Given the description of an element on the screen output the (x, y) to click on. 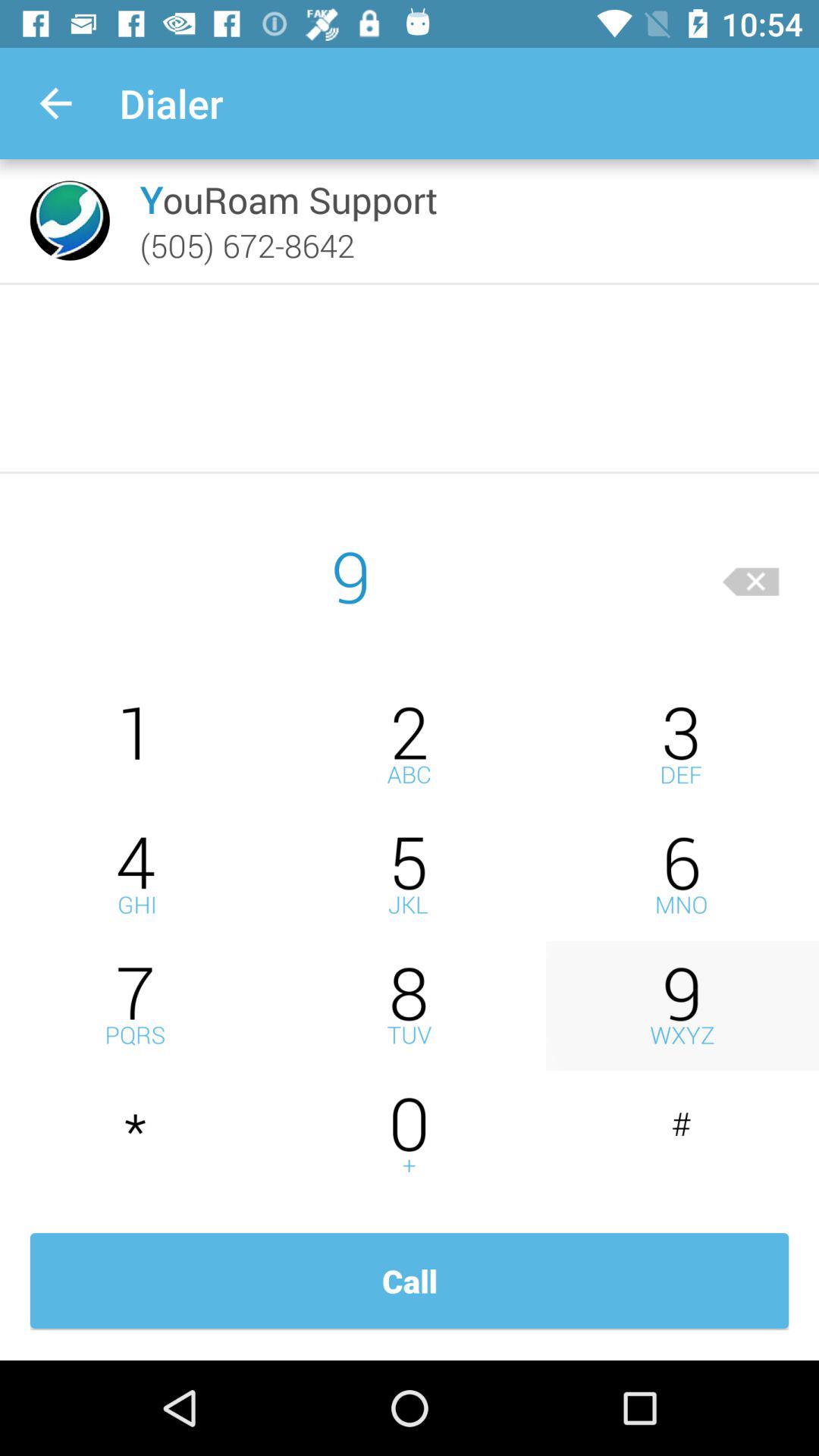
dial number 8 (409, 1005)
